Given the description of an element on the screen output the (x, y) to click on. 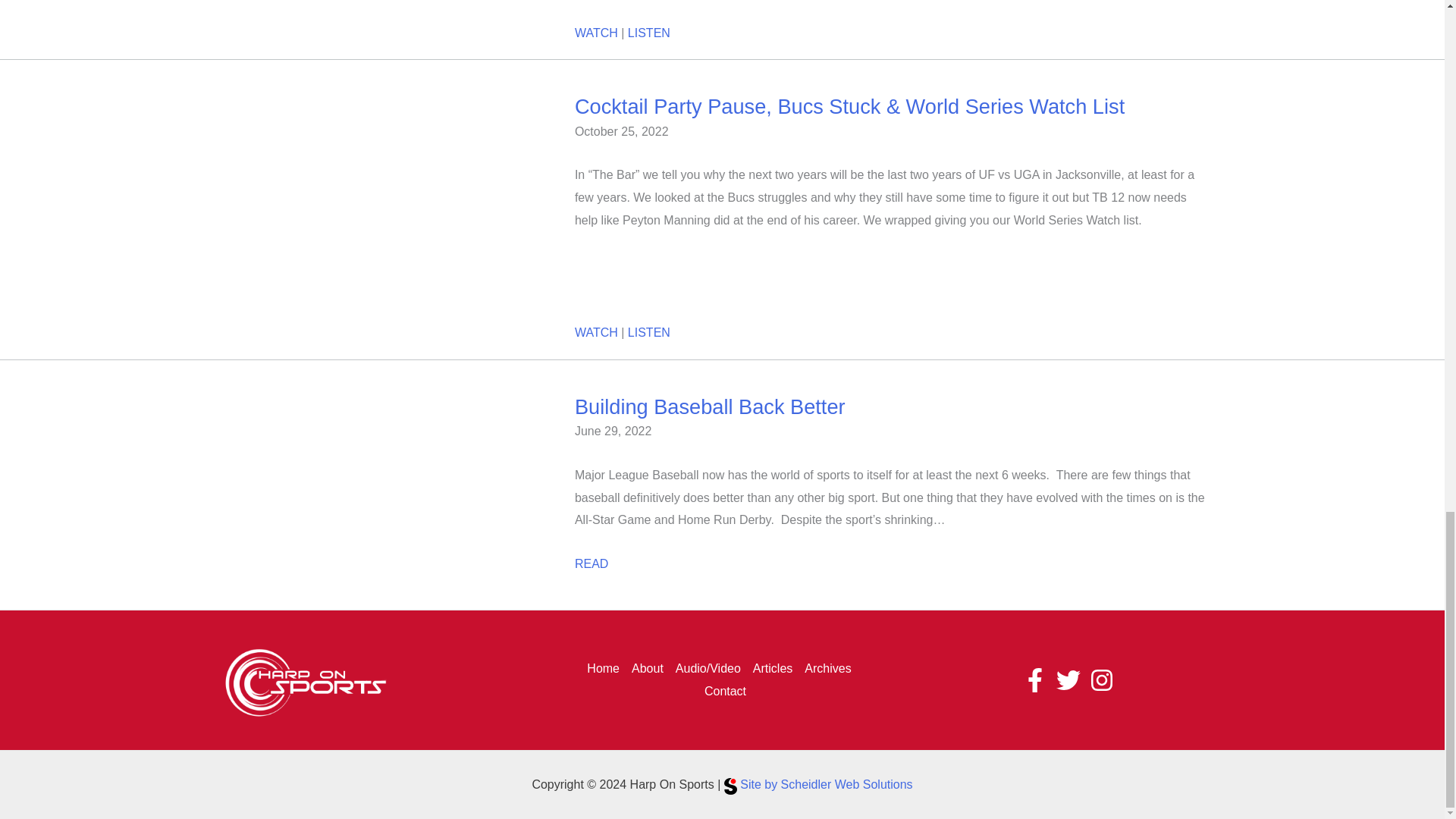
LISTEN (648, 32)
WATCH (596, 32)
